Given the description of an element on the screen output the (x, y) to click on. 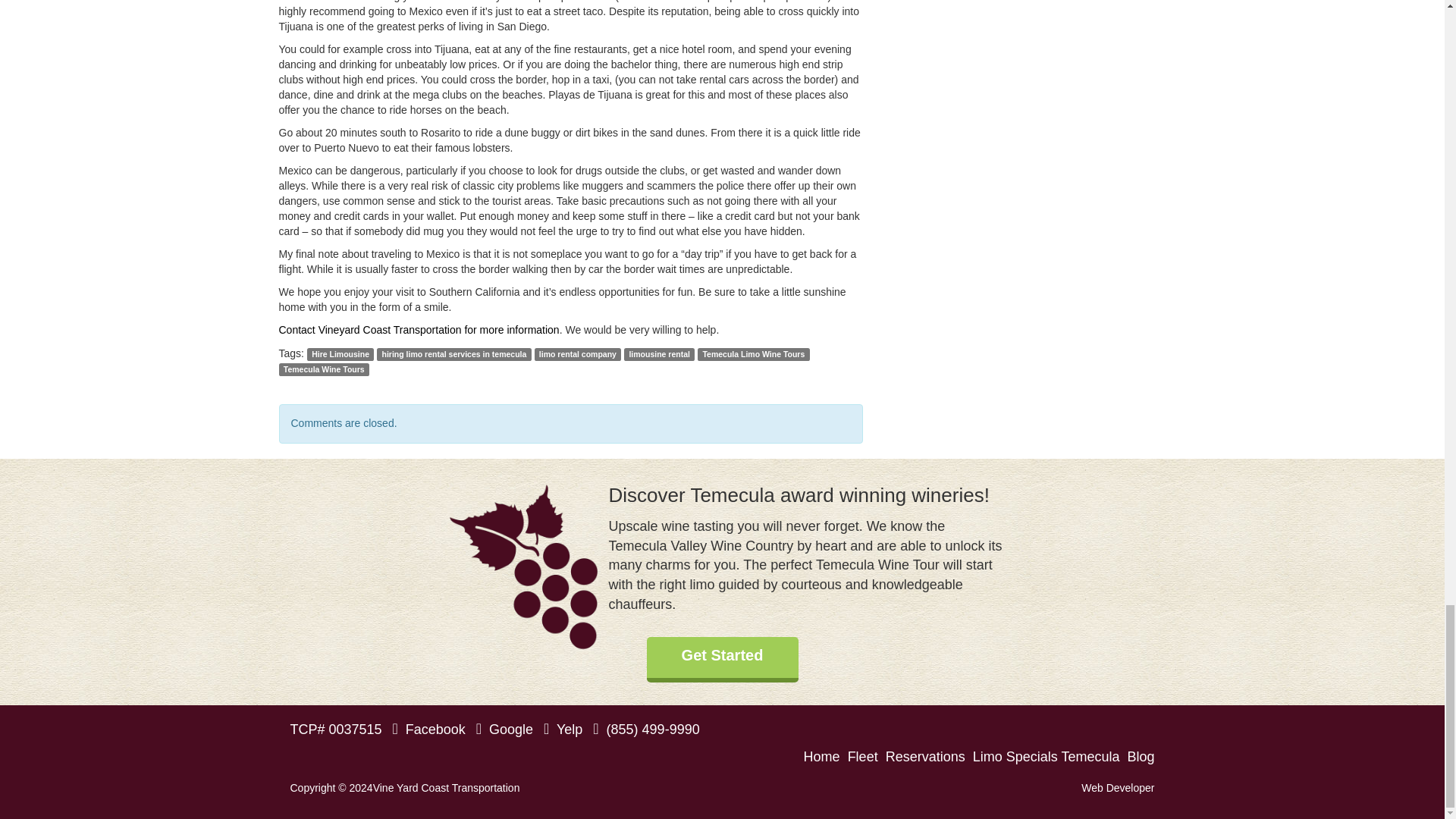
Facebook (427, 729)
hiring limo rental services in temecula (454, 354)
Temecula Wine Tours (324, 369)
Alex Uria (1117, 787)
Google (504, 729)
Temecula Limo Wine Tours (753, 354)
Get Started (721, 659)
Hire Limousine (340, 354)
limo rental company (577, 354)
limousine rental (659, 354)
